Given the description of an element on the screen output the (x, y) to click on. 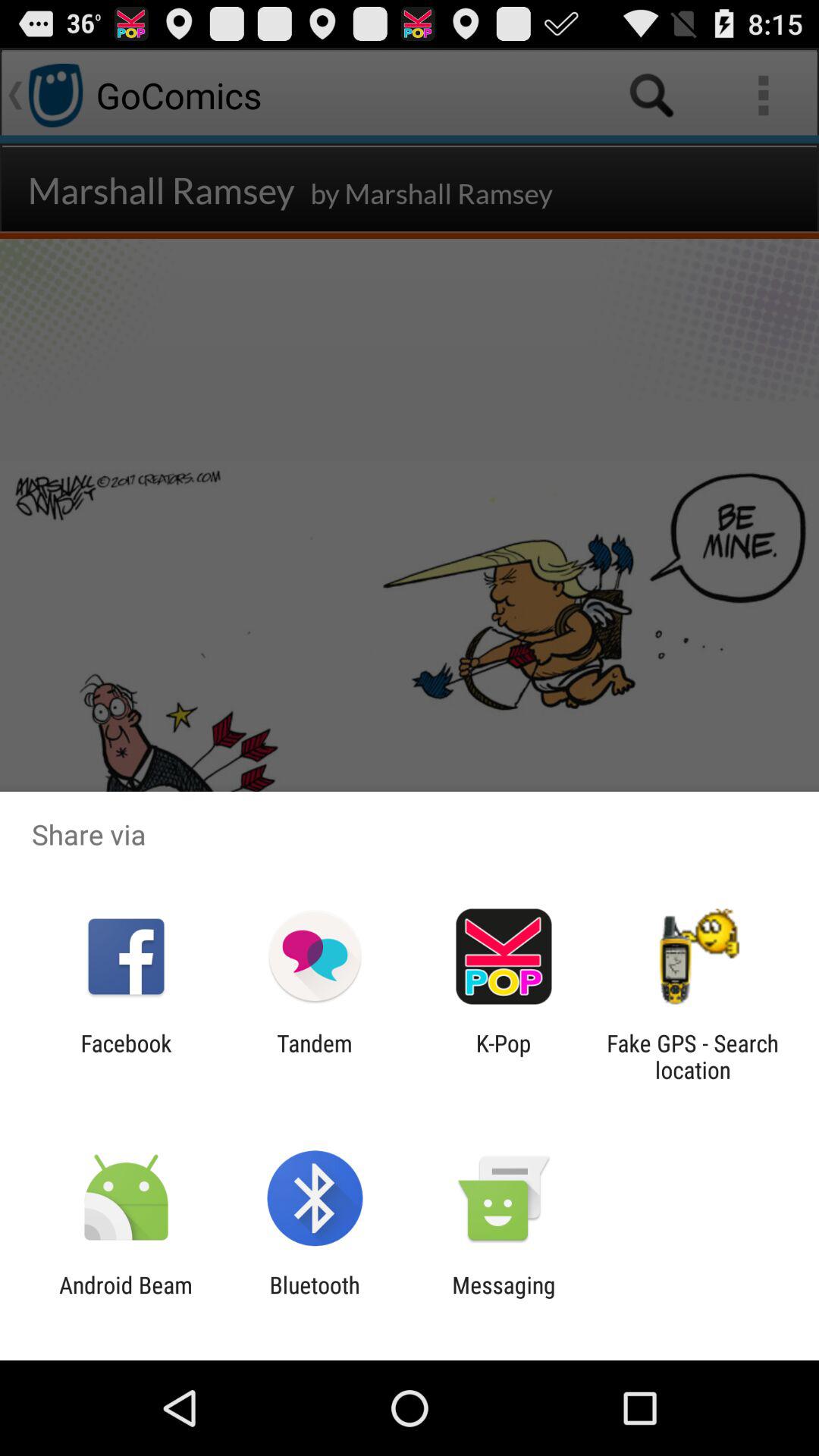
launch k-pop icon (503, 1056)
